Given the description of an element on the screen output the (x, y) to click on. 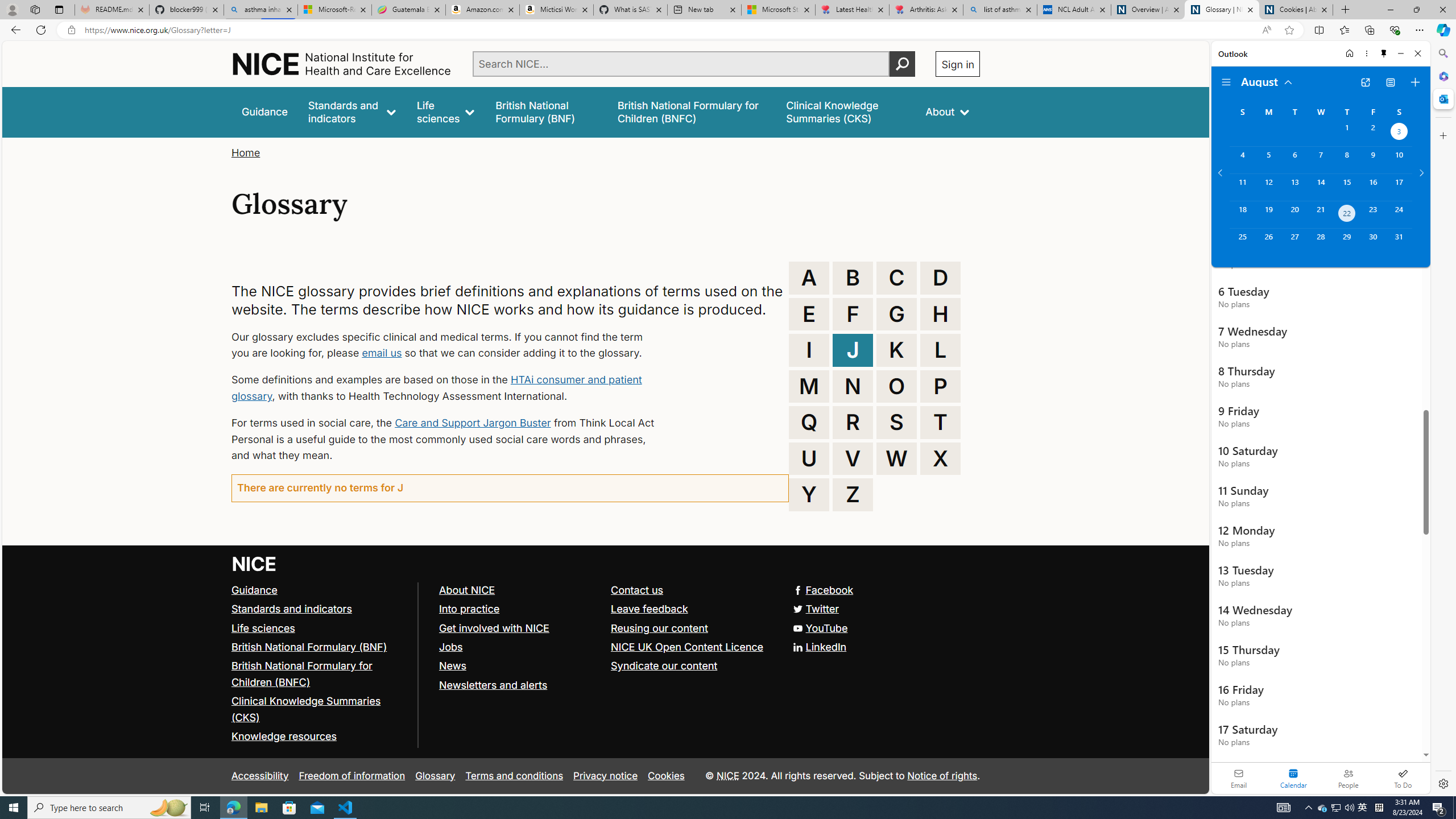
Saturday, August 31, 2024.  (1399, 241)
Care and Support Jargon Buster (472, 422)
View Switcher. Current view is Agenda view (1390, 82)
British National Formulary for Children (BNFC) (301, 673)
Newsletters and alerts (518, 684)
YouTube (605, 628)
G (896, 313)
asthma inhaler - Search (260, 9)
Thursday, August 15, 2024.  (1346, 186)
